Given the description of an element on the screen output the (x, y) to click on. 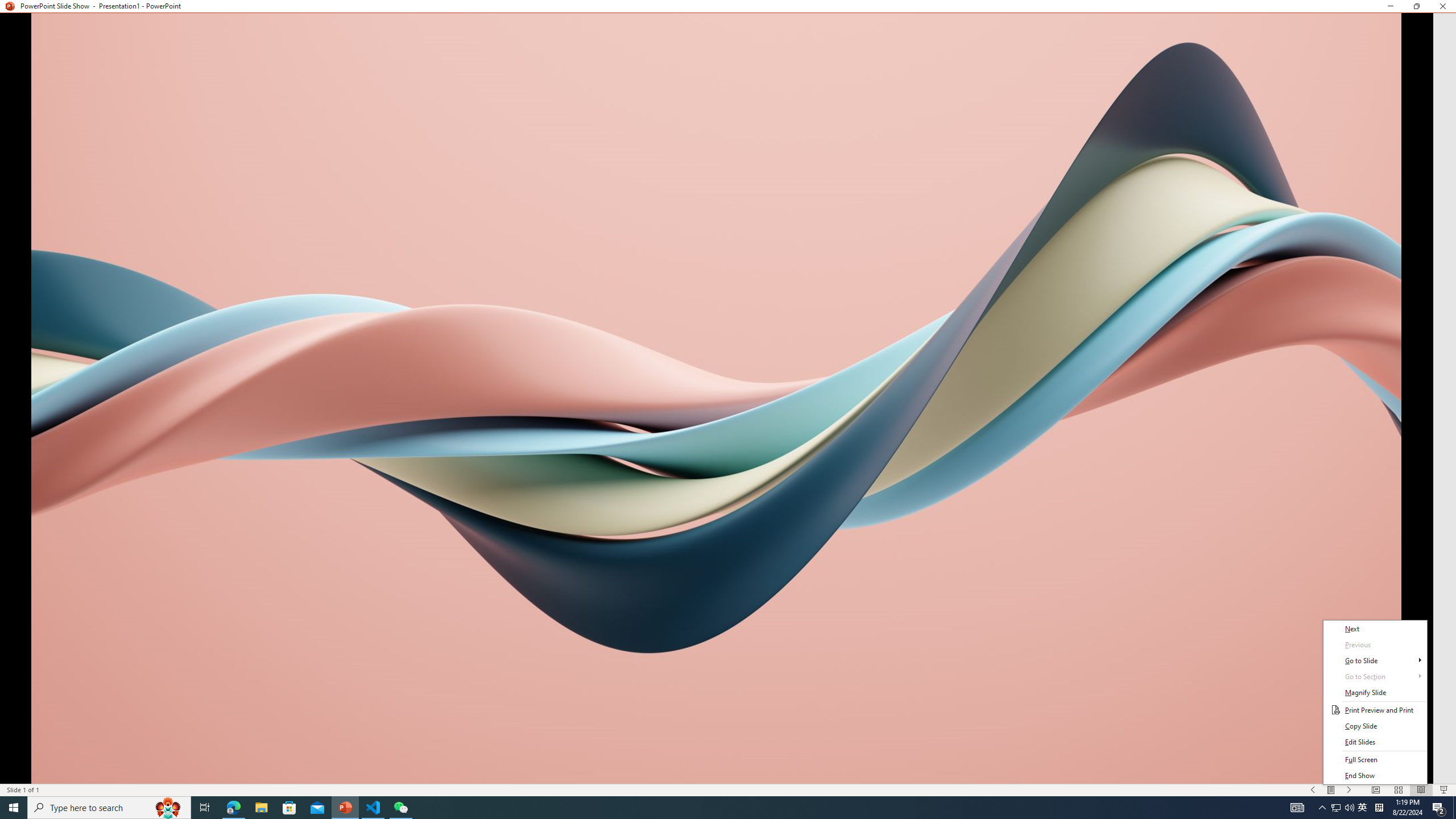
Print Preview and Print (1374, 710)
End Show (1374, 775)
Slide Show Previous On (1313, 790)
Go to Section (1374, 676)
